Given the description of an element on the screen output the (x, y) to click on. 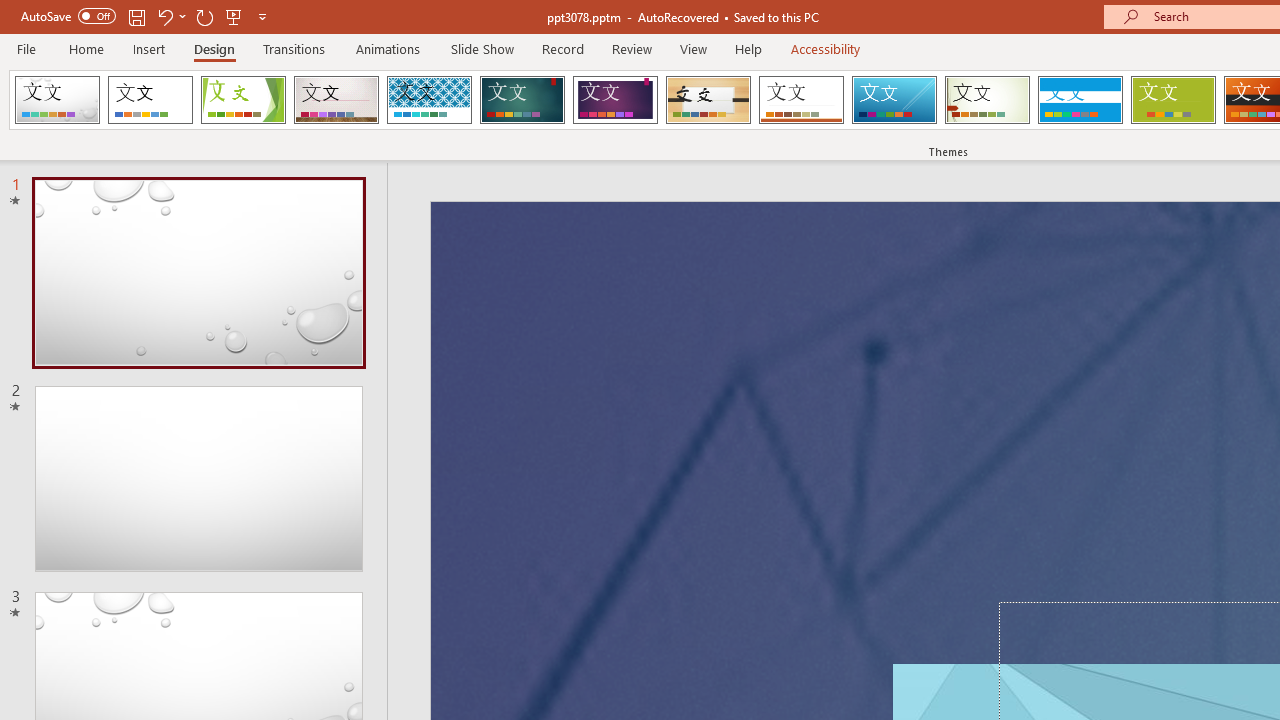
Slice (893, 100)
Gallery (336, 100)
Wisp (987, 100)
Office Theme (150, 100)
